Given the description of an element on the screen output the (x, y) to click on. 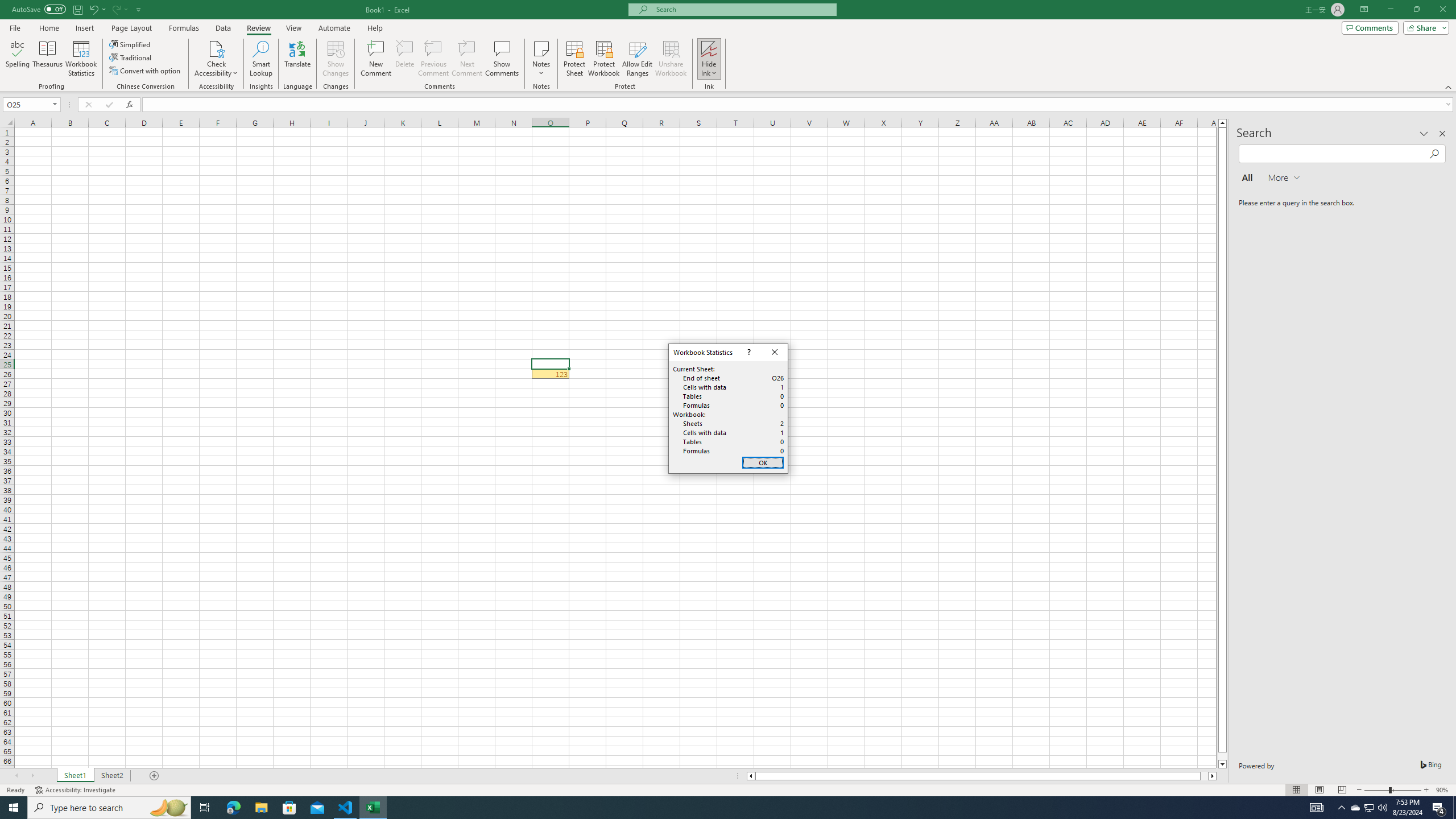
Notification Chevron (1341, 807)
Microsoft Store (289, 807)
Start (13, 807)
Previous Comment (432, 58)
Show desktop (1454, 807)
Sheet2 (112, 775)
Unshare Workbook (670, 58)
